Given the description of an element on the screen output the (x, y) to click on. 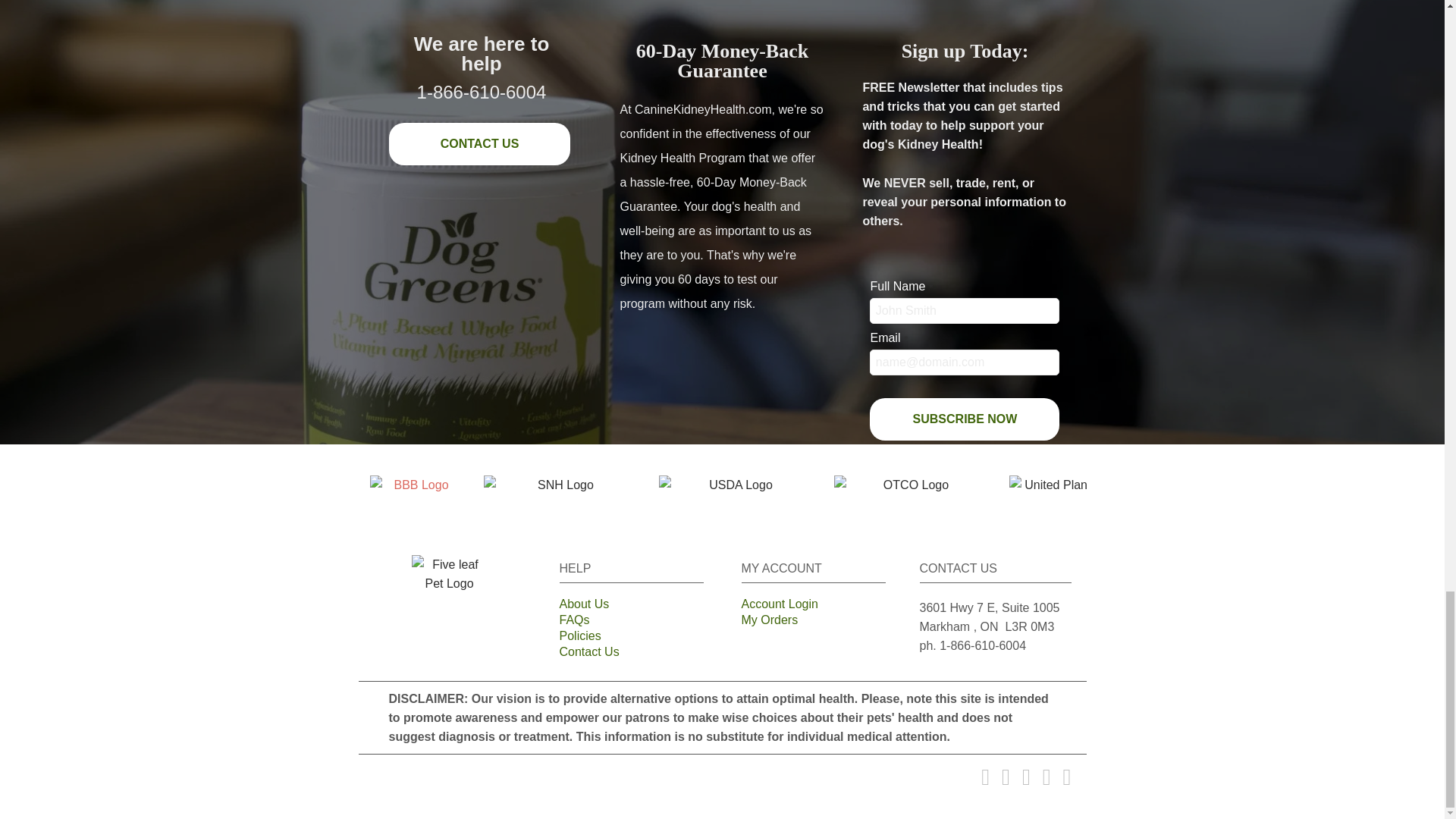
SUBSCRIBE NOW (964, 419)
Account Login (813, 606)
Contact Us (631, 653)
Policies (631, 637)
FAQs (631, 621)
CONTACT US (479, 143)
About Us (631, 606)
My Orders (813, 621)
